Given the description of an element on the screen output the (x, y) to click on. 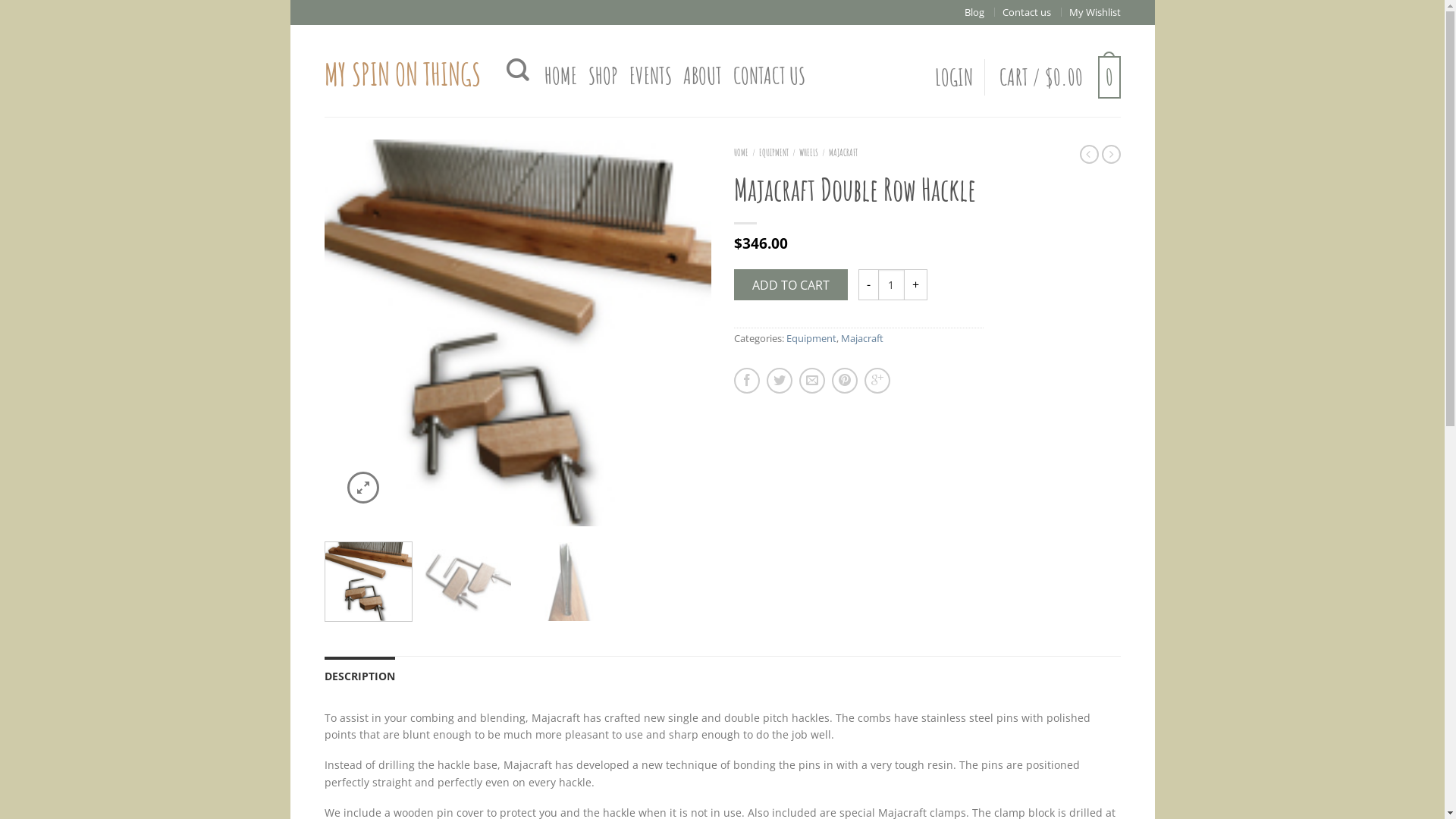
EVENTS Element type: text (650, 75)
MY SPIN ON THINGS Element type: text (403, 70)
Contact us Element type: text (1026, 11)
CART / $0.00 0 Element type: text (1059, 76)
LOGIN Element type: text (953, 76)
MAJACRAFT Element type: text (842, 152)
HOME Element type: text (741, 152)
HOME Element type: text (560, 75)
pin_detail_sm Element type: hover (567, 585)
ABOUT Element type: text (701, 75)
DESCRIPTION Element type: text (359, 674)
CONTACT US Element type: text (768, 75)
hackle_set_sm Element type: hover (517, 332)
Equipment Element type: text (810, 338)
clamp_detail_sm Element type: hover (467, 585)
My Wishlist Element type: text (1094, 11)
Majacraft Element type: text (861, 338)
Blog Element type: text (974, 11)
WHEELS Element type: text (808, 152)
SHOP Element type: text (603, 75)
ADD TO CART Element type: text (790, 284)
EQUIPMENT Element type: text (772, 152)
